Given the description of an element on the screen output the (x, y) to click on. 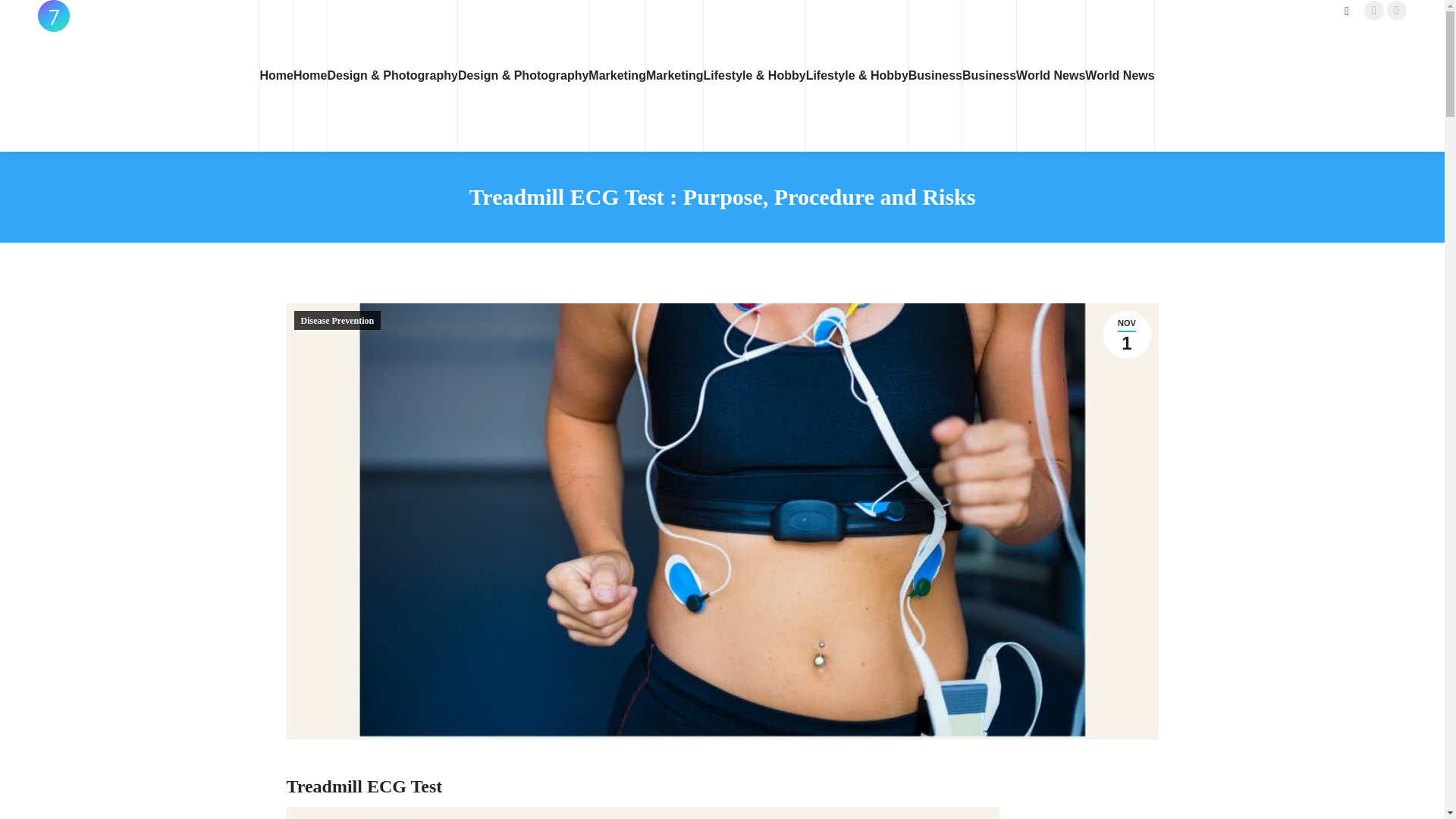
3:55 am (1126, 334)
Marketing (674, 75)
Facebook page opens in new window (1374, 10)
World News (1119, 75)
Business (989, 75)
Home (310, 75)
World News (1050, 75)
Home (277, 75)
X page opens in new window (1396, 10)
Marketing (617, 75)
Go! (24, 16)
X page opens in new window (1396, 10)
Treadmill ECG Test : Purpose, Procedure and Risks 1 (642, 812)
Facebook page opens in new window (1374, 10)
